Given the description of an element on the screen output the (x, y) to click on. 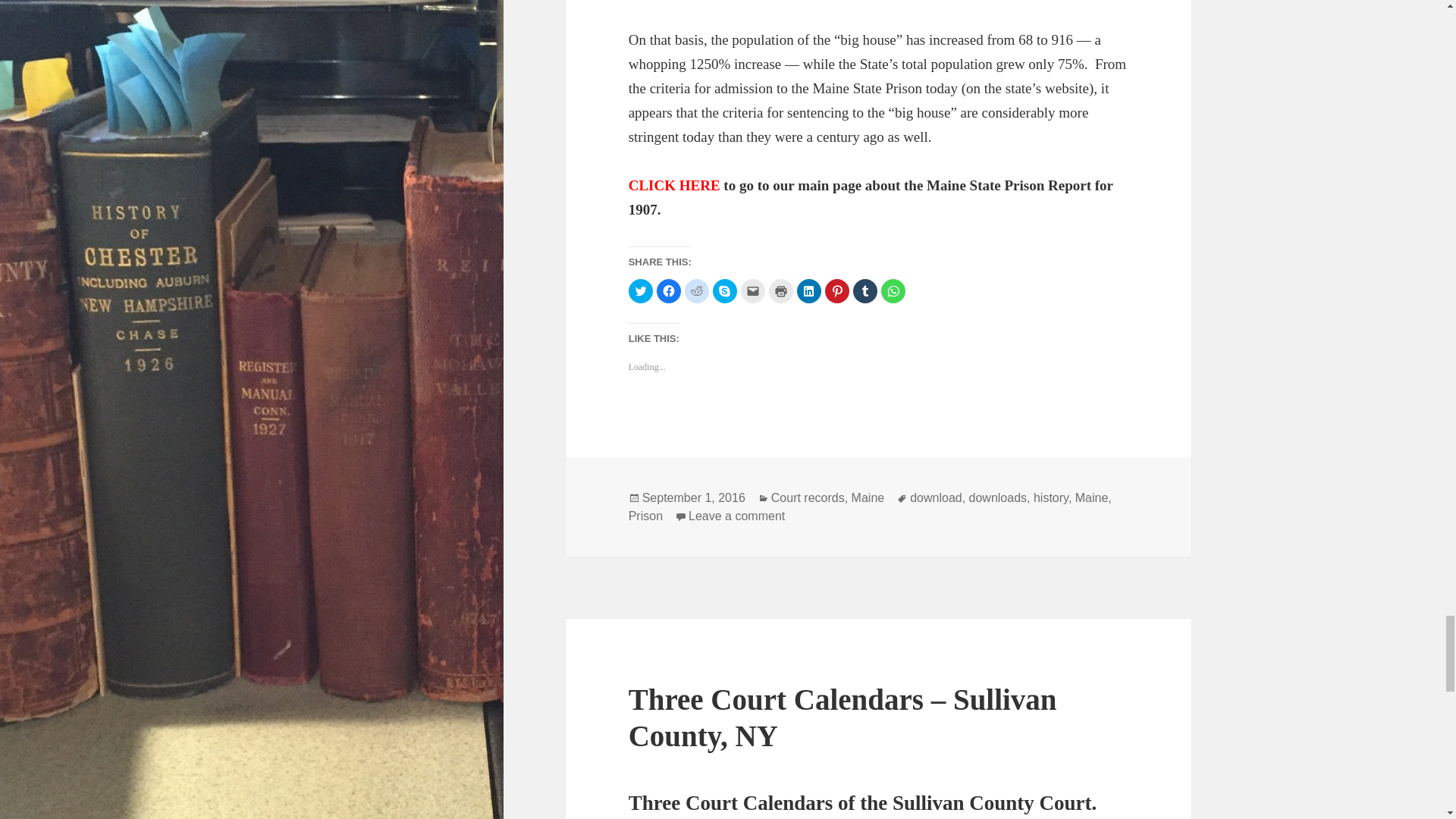
Click to share on Skype (724, 291)
Click to email a link to a friend (753, 291)
Click to share on Twitter (640, 291)
Click to share on Facebook (668, 291)
Click to share on Reddit (696, 291)
Click to print (780, 291)
